Given the description of an element on the screen output the (x, y) to click on. 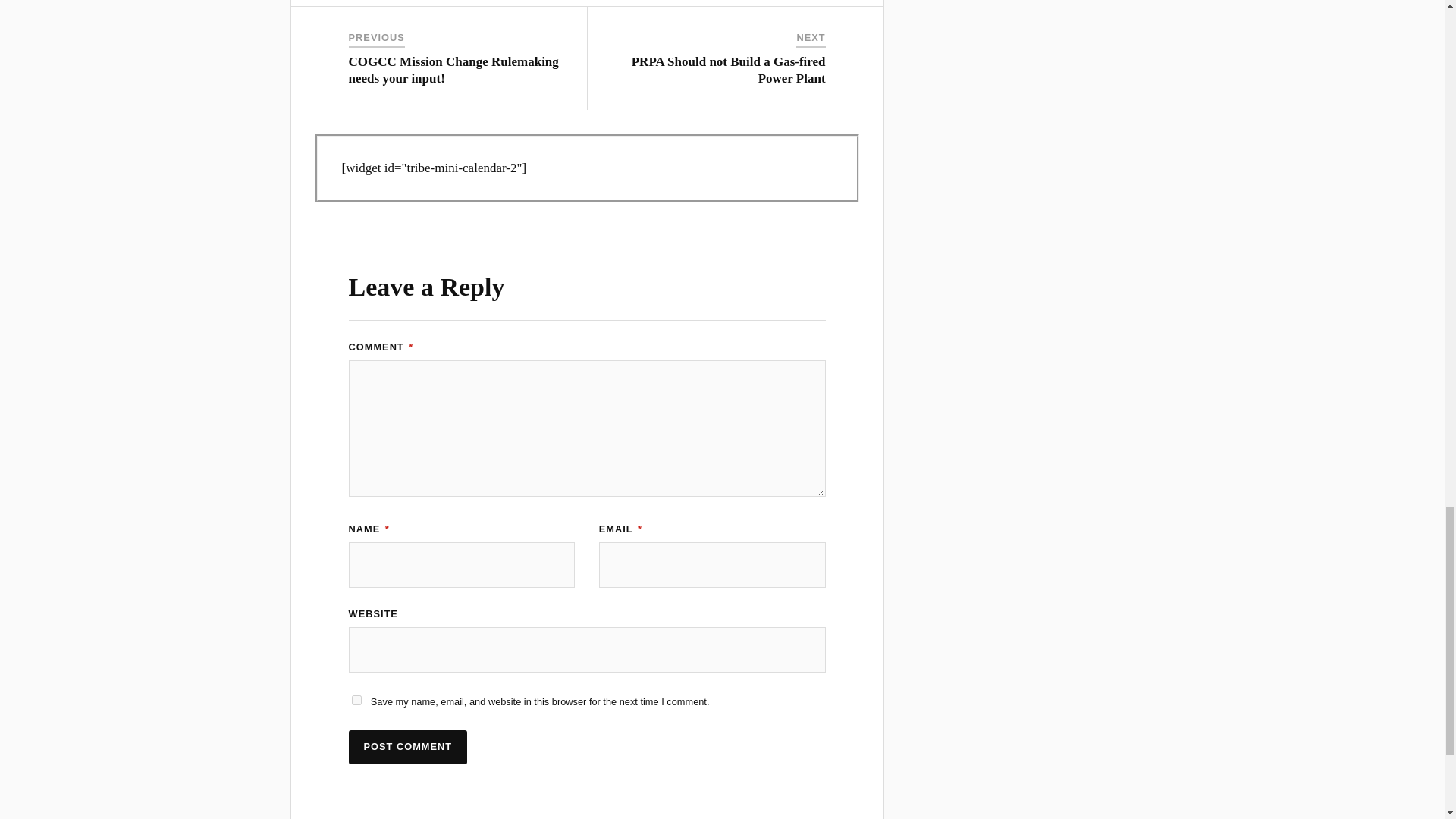
Post Comment (408, 747)
yes (356, 700)
Next post: PRPA Should not Build a Gas-fired Power Plant (728, 69)
COGCC Mission Change Rulemaking needs your input! (454, 69)
Post Comment (408, 747)
PRPA Should not Build a Gas-fired Power Plant (728, 69)
